Given the description of an element on the screen output the (x, y) to click on. 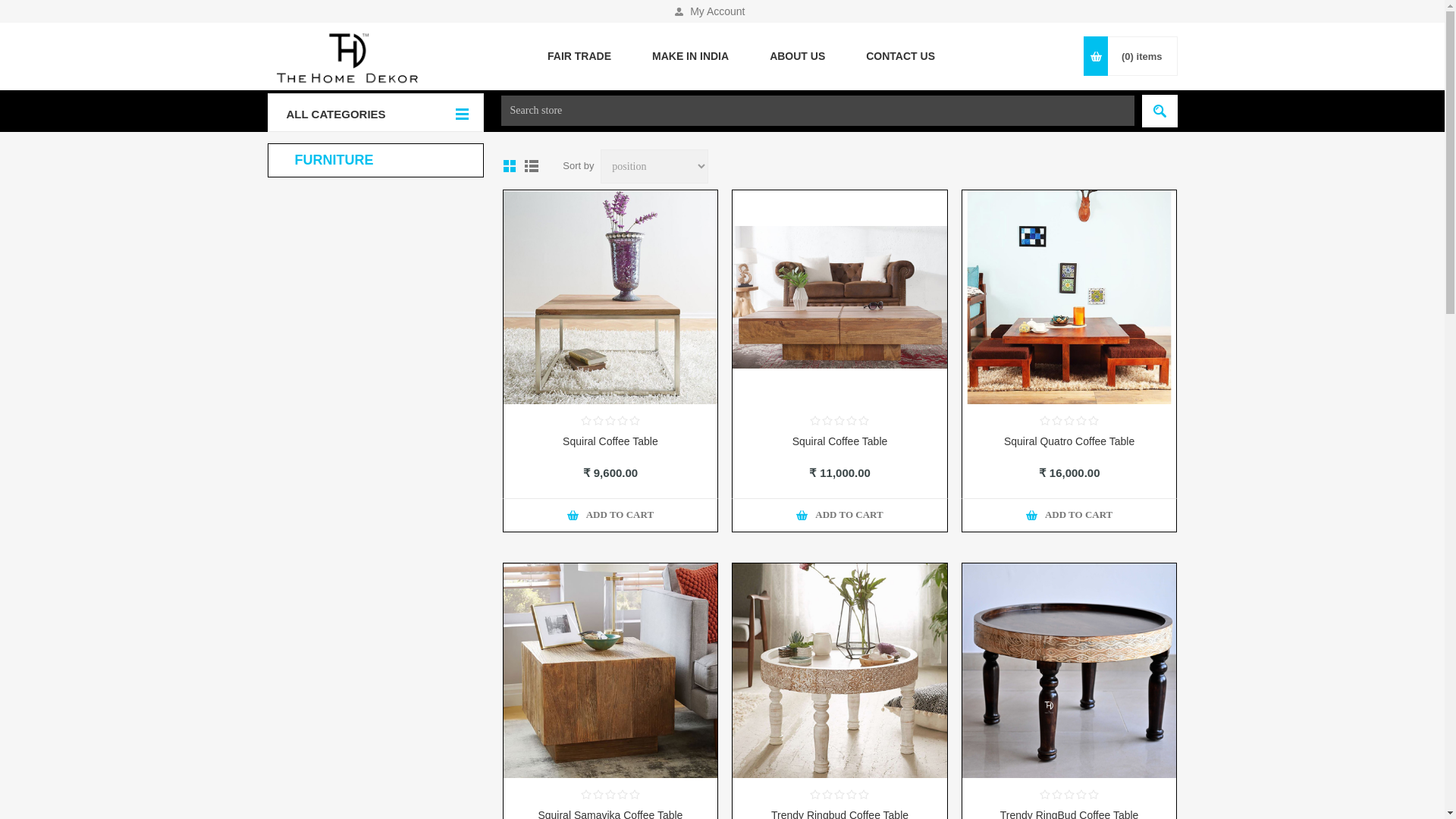
Search (1159, 111)
Add to wishlist (1086, 508)
Add to compare list (592, 508)
Add to wishlist (627, 508)
Add to compare list (1051, 508)
Add to wishlist (856, 508)
Search (1159, 111)
Add to compare list (821, 508)
